Given the description of an element on the screen output the (x, y) to click on. 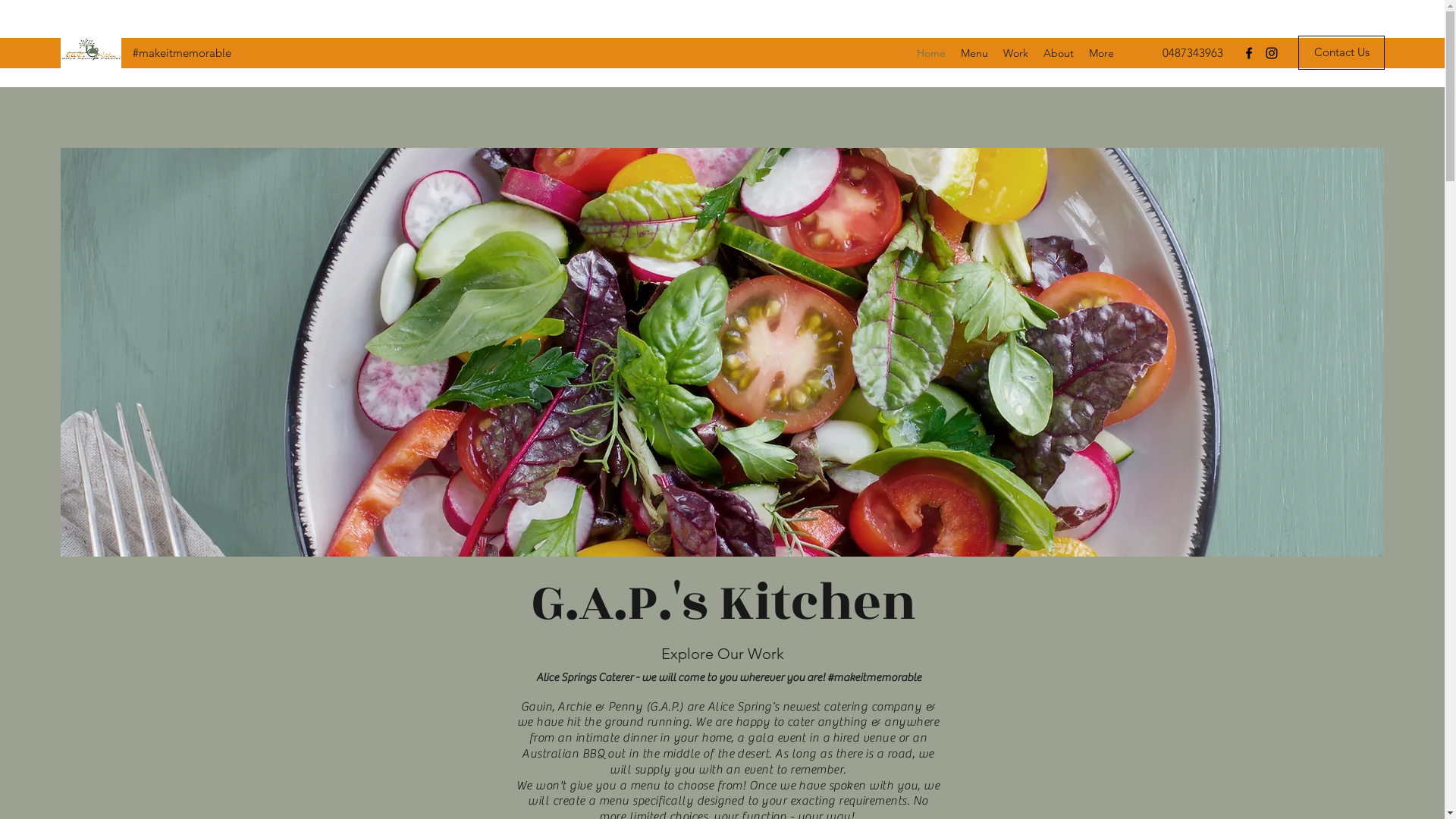
Home Element type: text (931, 52)
Menu Element type: text (974, 52)
Work Element type: text (1015, 52)
Contact Us Element type: text (1341, 52)
About Element type: text (1058, 52)
